Given the description of an element on the screen output the (x, y) to click on. 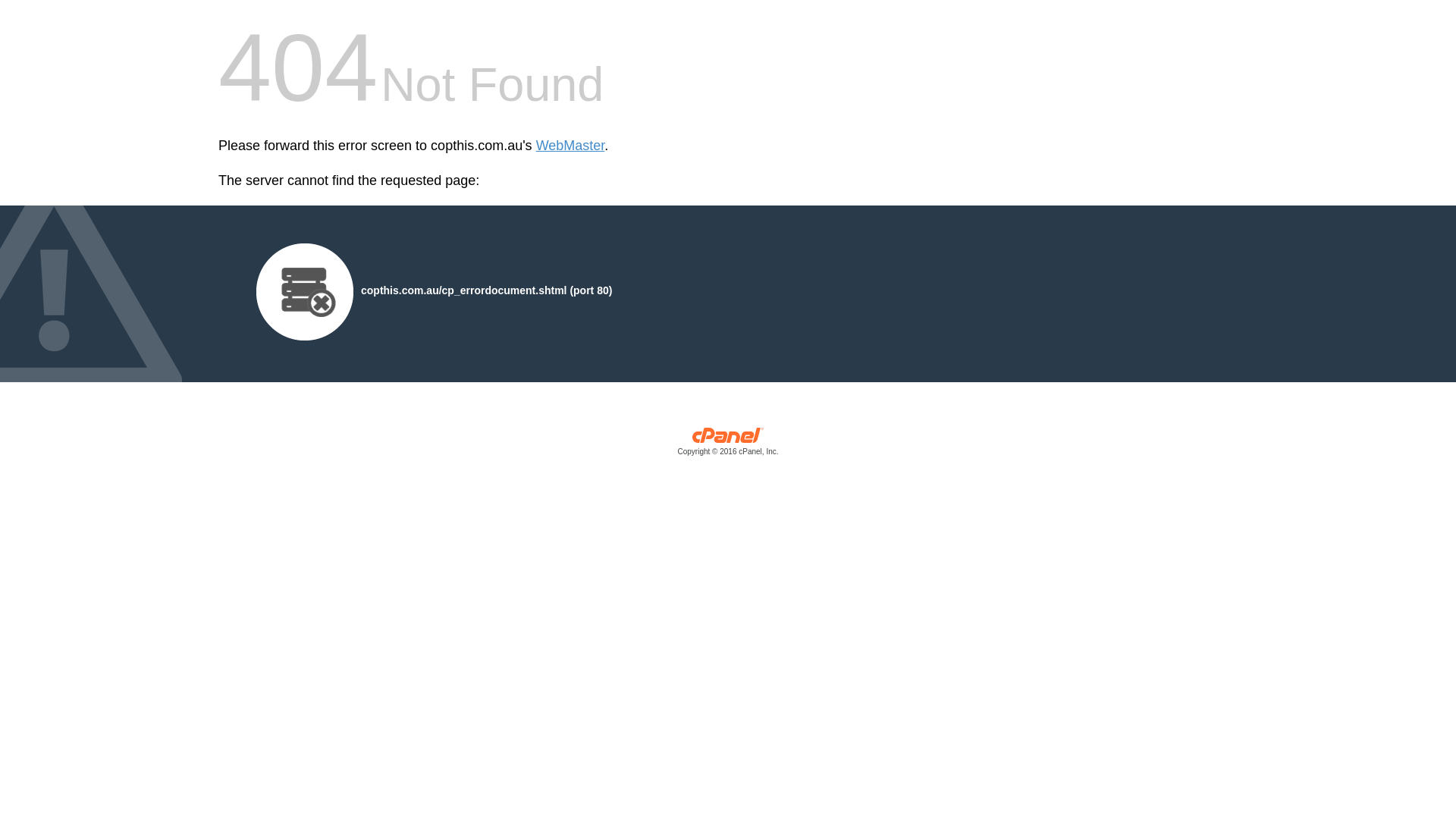
WebMaster Element type: text (570, 145)
